Given the description of an element on the screen output the (x, y) to click on. 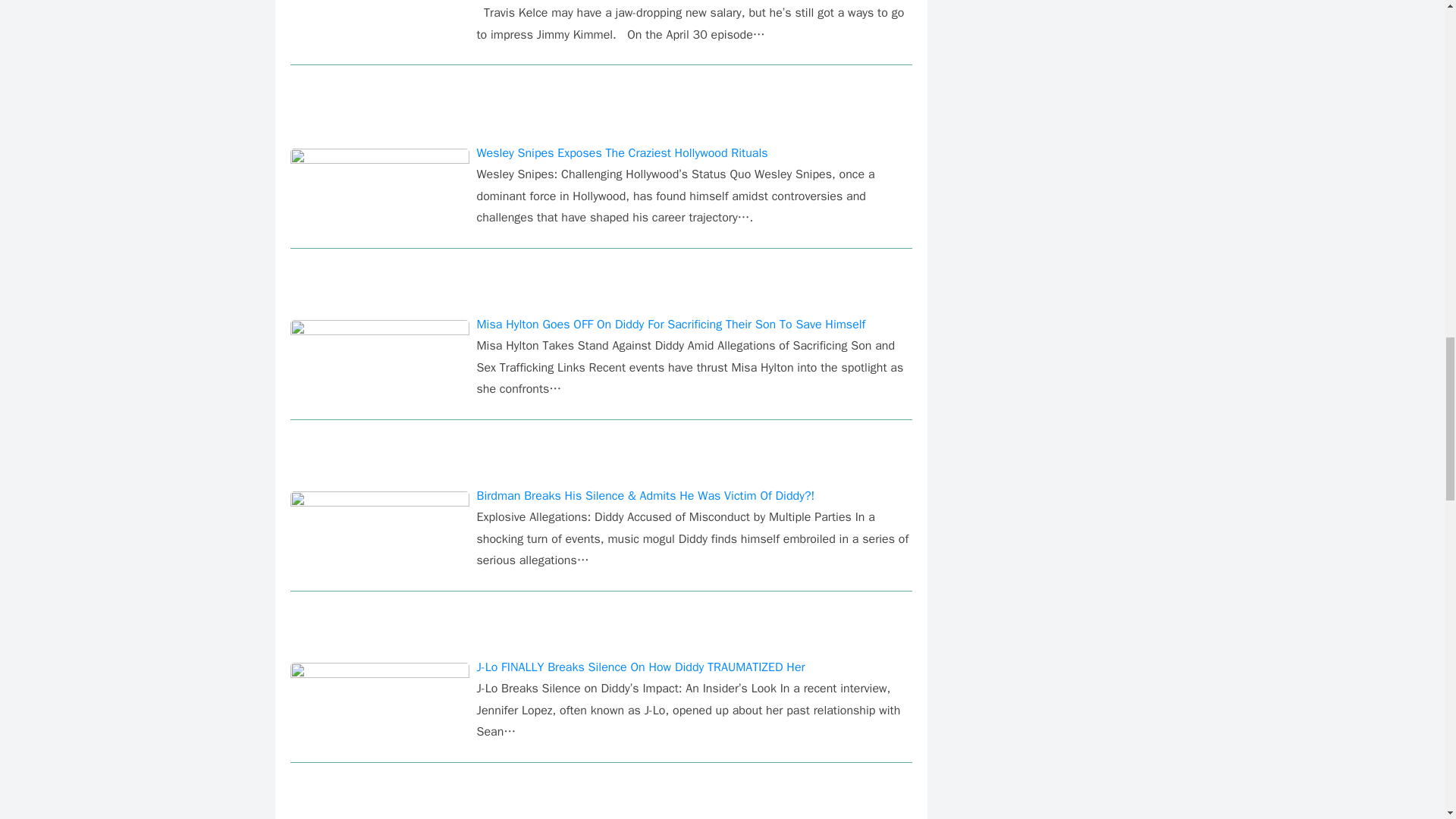
J-Lo FINALLY Breaks Silence On How Diddy TRAUMATIZED Her (640, 667)
Wesley Snipes Exposes The Craziest Hollywood Rituals (621, 152)
